Given the description of an element on the screen output the (x, y) to click on. 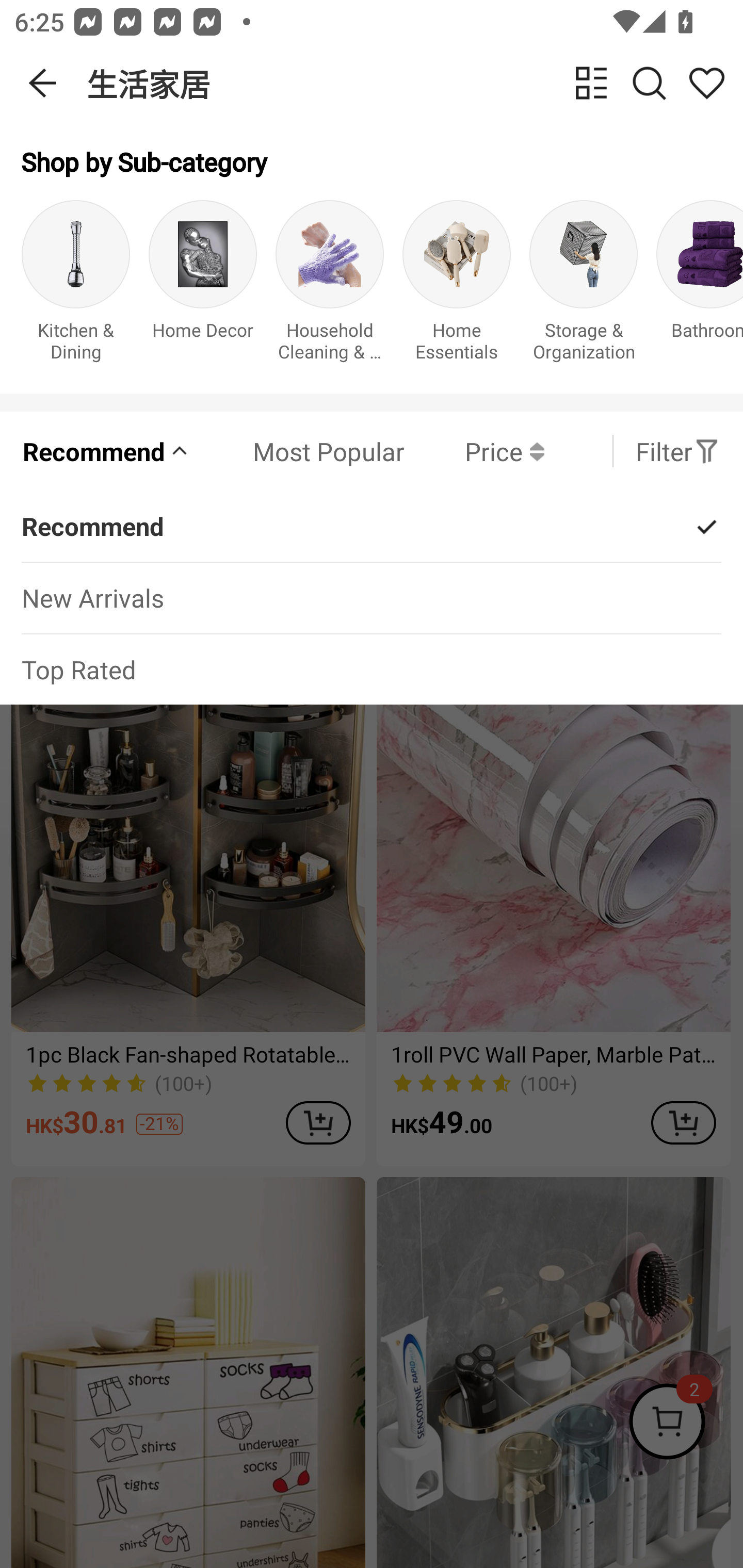
生活家居 change view Search Share (414, 82)
change view (591, 82)
Search (648, 82)
Share (706, 82)
Kitchen & Dining (75, 285)
Home Decor (202, 285)
Household Cleaning & Personal Care (329, 285)
Home Essentials (456, 285)
Storage & Organization (583, 285)
Bathroom (699, 285)
Recommend (106, 450)
Most Popular (297, 450)
Price (474, 450)
Filter (677, 450)
